Given the description of an element on the screen output the (x, y) to click on. 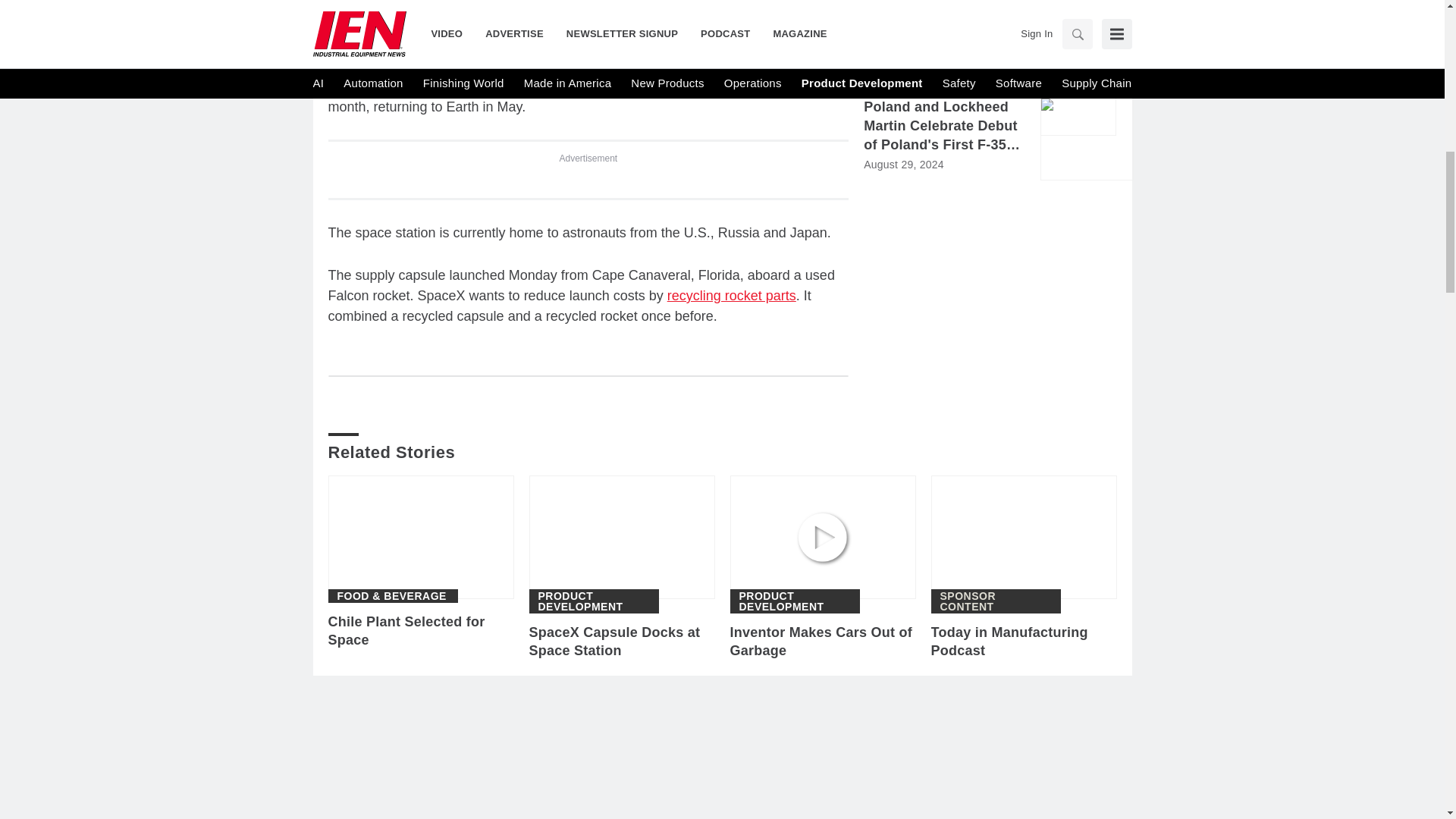
Sponsor Content (996, 600)
Product Development (594, 600)
Product Development (794, 600)
